Given the description of an element on the screen output the (x, y) to click on. 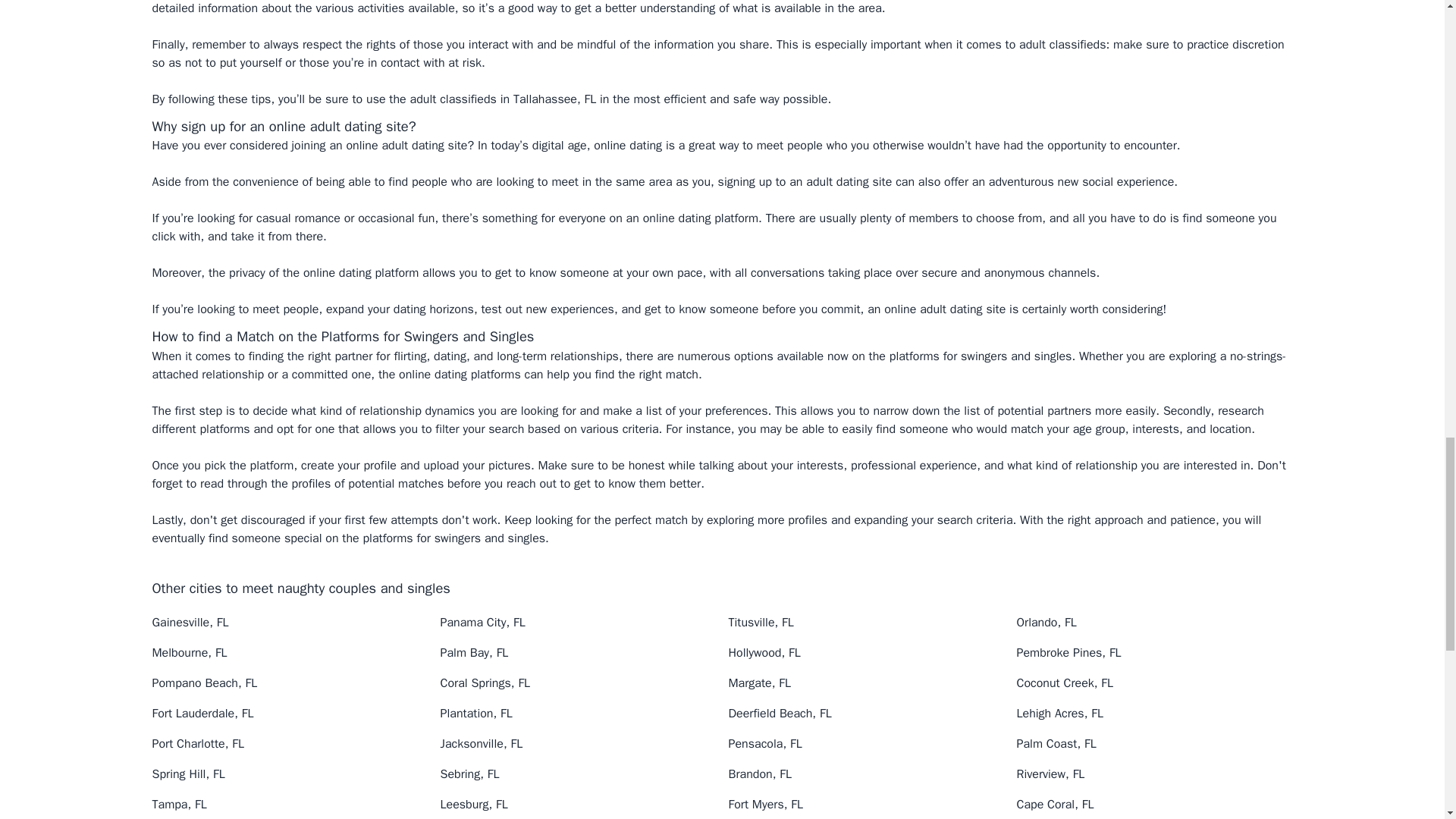
Pensacola, FL (765, 743)
Spring Hill, FL (187, 774)
Panama City, FL (481, 622)
Deerfield Beach, FL (779, 713)
Margate, FL (759, 683)
Jacksonville, FL (480, 743)
Fort Lauderdale, FL (202, 713)
Lehigh Acres, FL (1059, 713)
Sebring, FL (469, 774)
Cape Coral, FL (1054, 804)
Port Charlotte, FL (197, 743)
Coconut Creek, FL (1064, 683)
Palm Coast, FL (1056, 743)
Leesburg, FL (472, 804)
Melbourne, FL (189, 652)
